Given the description of an element on the screen output the (x, y) to click on. 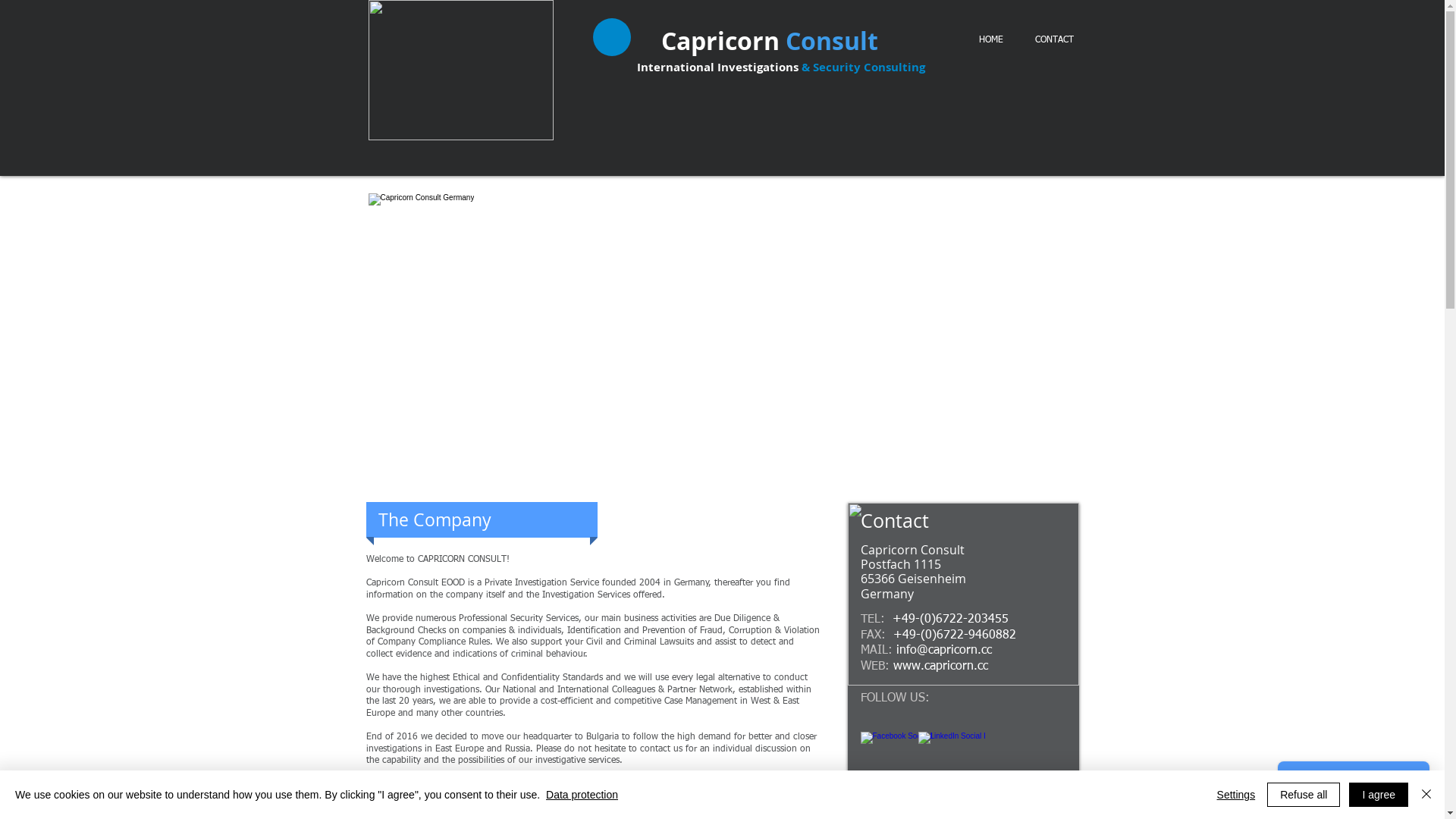
world.jpg Element type: hover (460, 70)
www.capricorn.cc Element type: text (940, 666)
info@capricorn.cc Element type: text (943, 650)
TWIPLA (Visitor Analytics) Element type: hover (728, 323)
Data protection Element type: text (582, 794)
CONTACT Element type: text (1054, 40)
Refuse all Element type: text (1303, 794)
HOME Element type: text (991, 40)
I agree Element type: text (1378, 794)
